Given the description of an element on the screen output the (x, y) to click on. 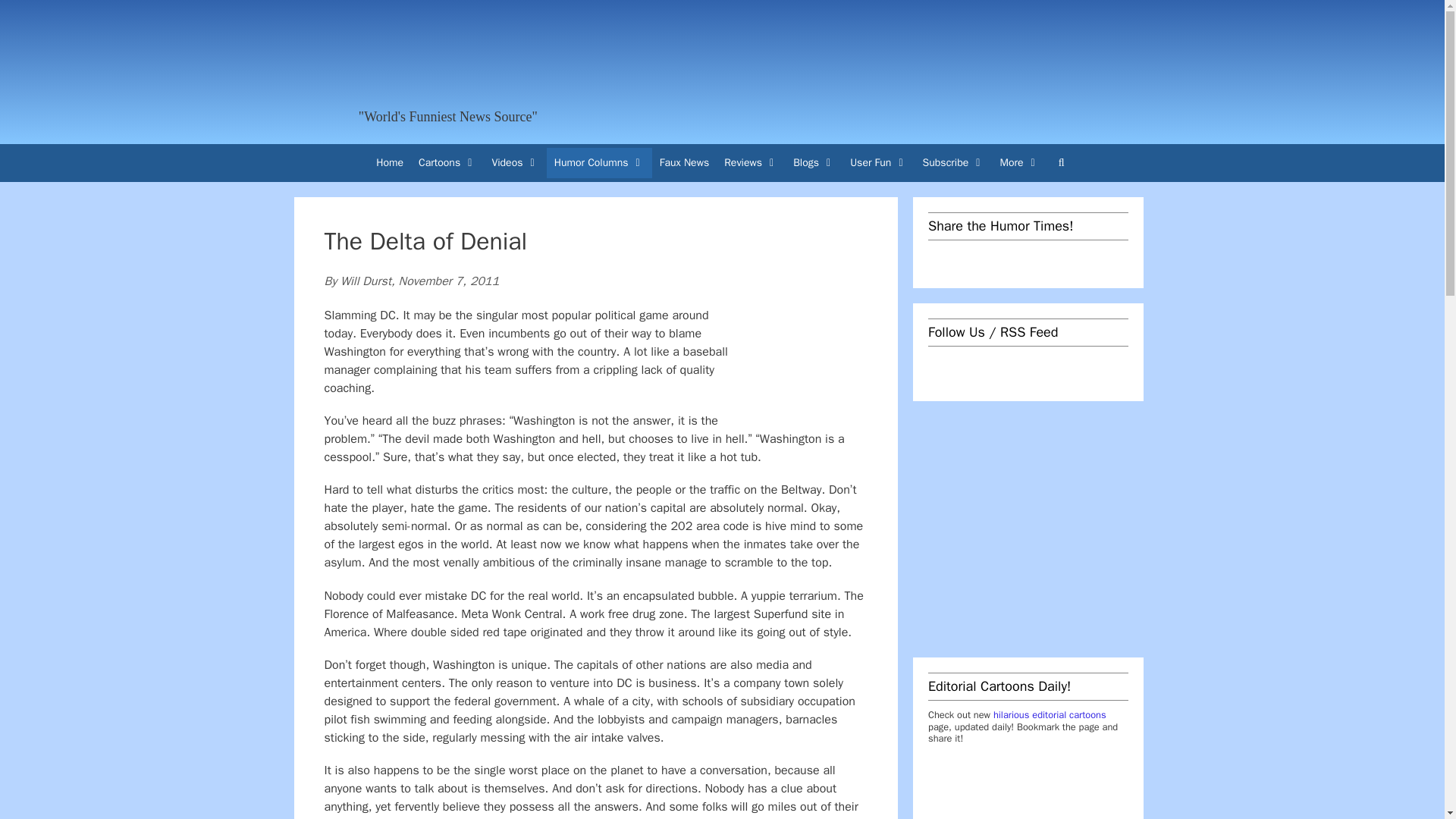
Home (389, 163)
View all posts by Will Durst (365, 281)
Humor Times Free Trial (944, 67)
Cartoons (446, 163)
11:46 AM (448, 281)
